Given the description of an element on the screen output the (x, y) to click on. 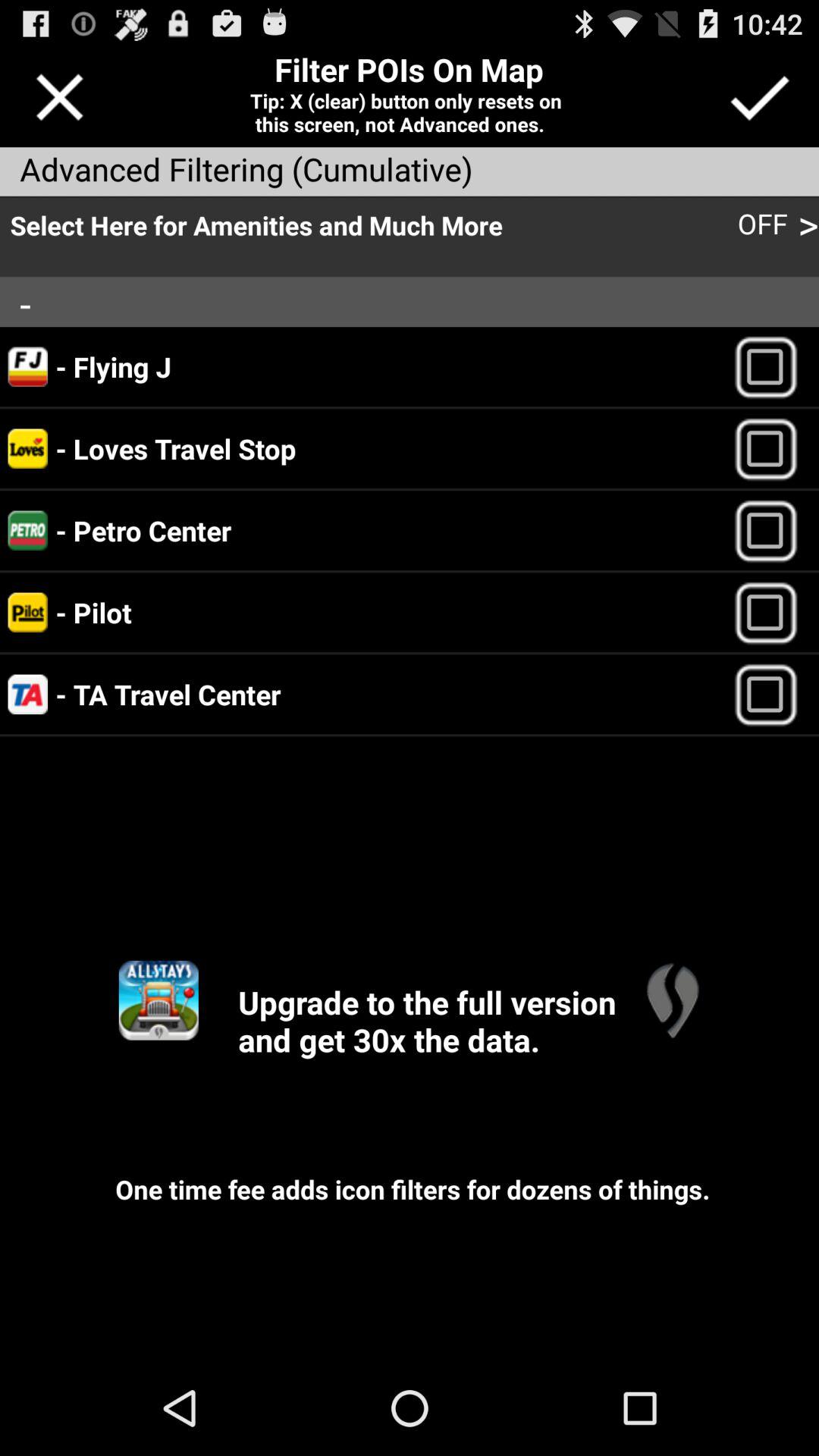
select the option (772, 694)
